Given the description of an element on the screen output the (x, y) to click on. 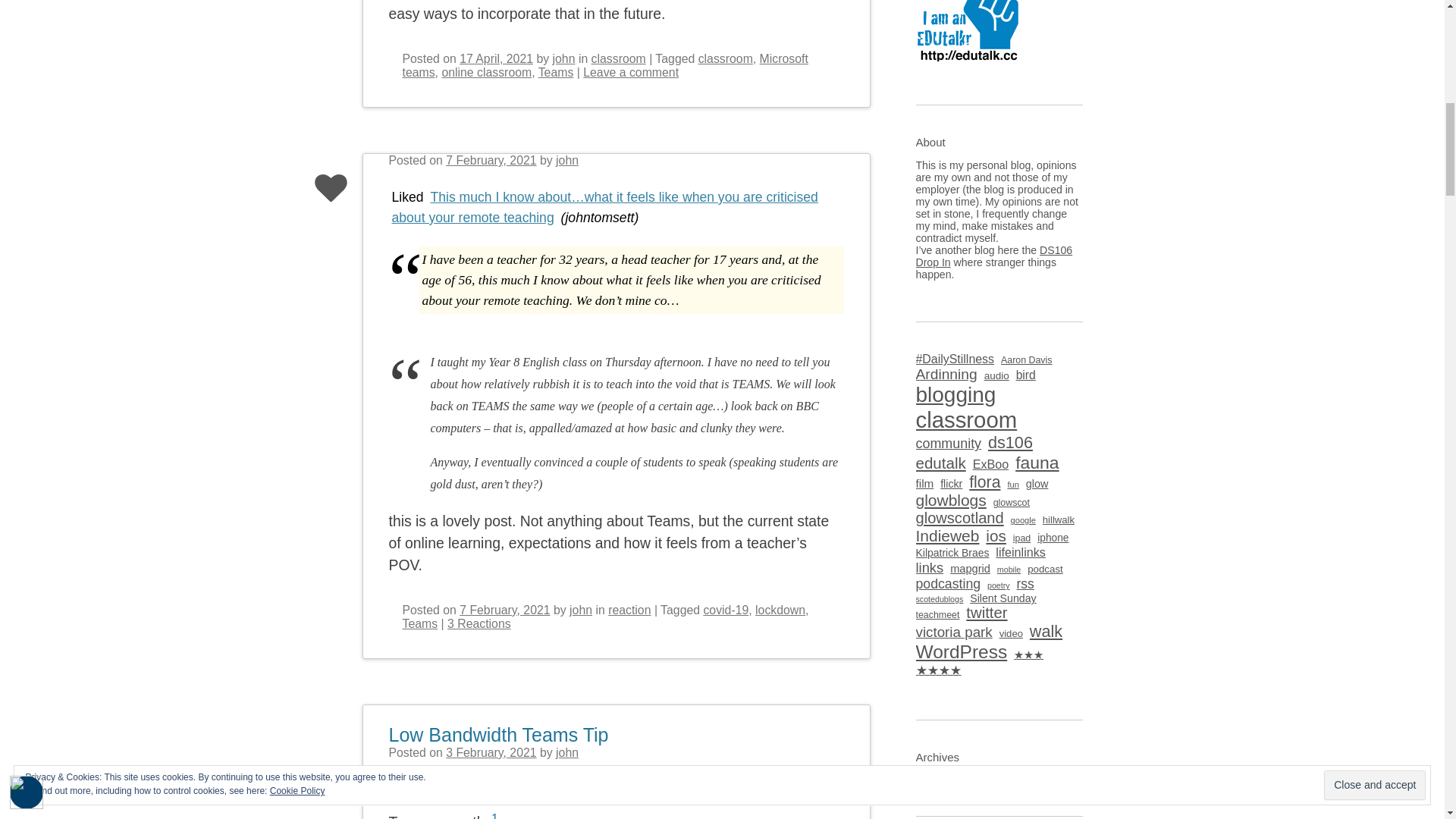
covid-19 (725, 609)
Leave a comment (630, 72)
reaction (629, 609)
Teams (555, 72)
classroom (618, 58)
3 Reactions (478, 623)
john (567, 160)
7 February, 2021 (505, 609)
17 April, 2021 (496, 58)
7 February, 2021 (490, 160)
lockdown (780, 609)
online classroom (486, 72)
Teams (419, 623)
3 February, 2021 (490, 752)
Low Bandwidth Teams Tip (498, 725)
